Given the description of an element on the screen output the (x, y) to click on. 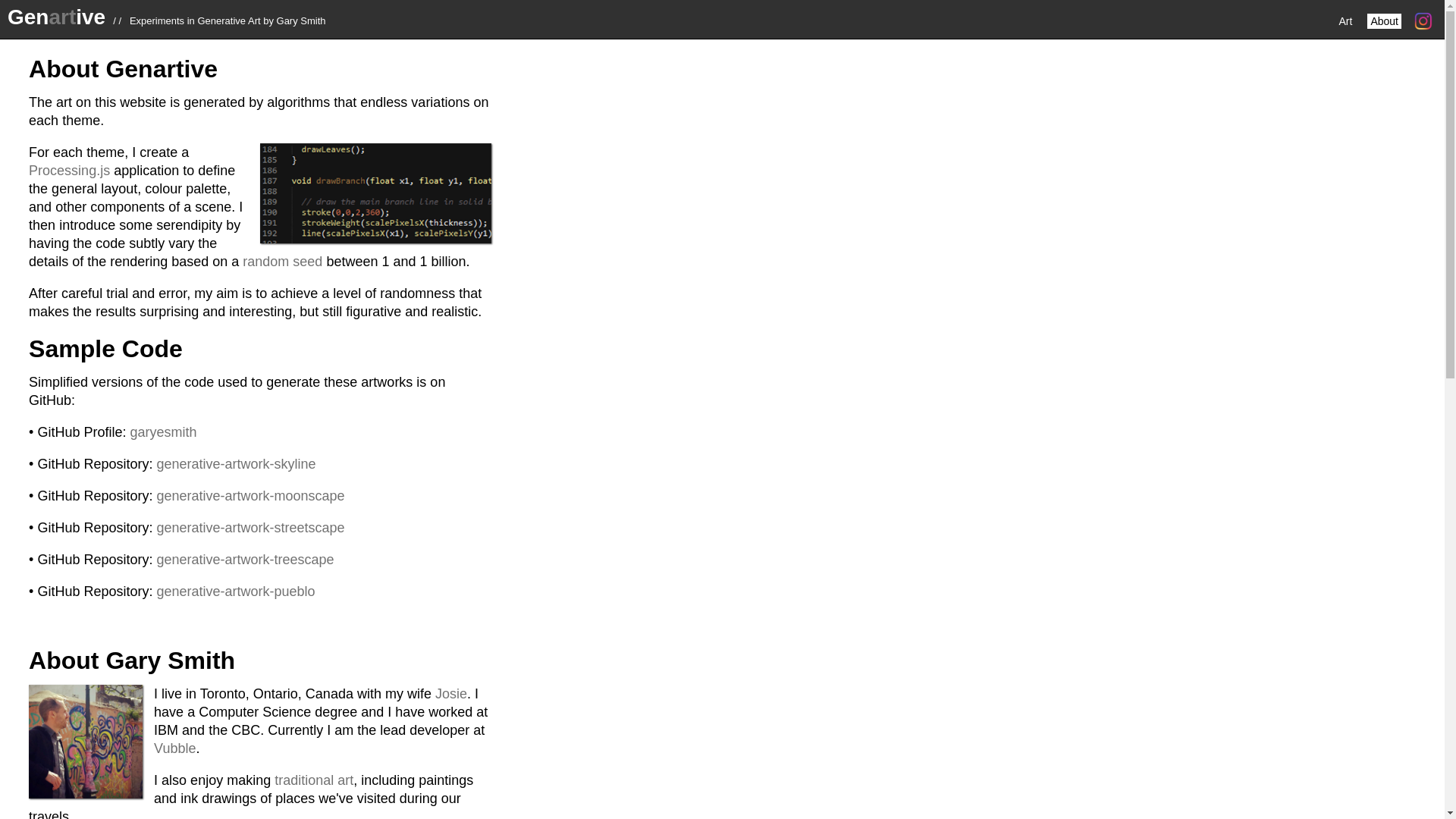
Art (1345, 20)
garyesmith (162, 432)
Josie (451, 693)
traditional art (314, 780)
About (1383, 20)
generative-artwork-skyline (235, 463)
generative-artwork-pueblo (234, 590)
Processing.js (69, 170)
generative-artwork-streetscape (249, 527)
generative-artwork-moonscape (249, 495)
generative-artwork-treescape (244, 559)
Vubble (174, 748)
Genartive (55, 16)
random seed (282, 261)
